Given the description of an element on the screen output the (x, y) to click on. 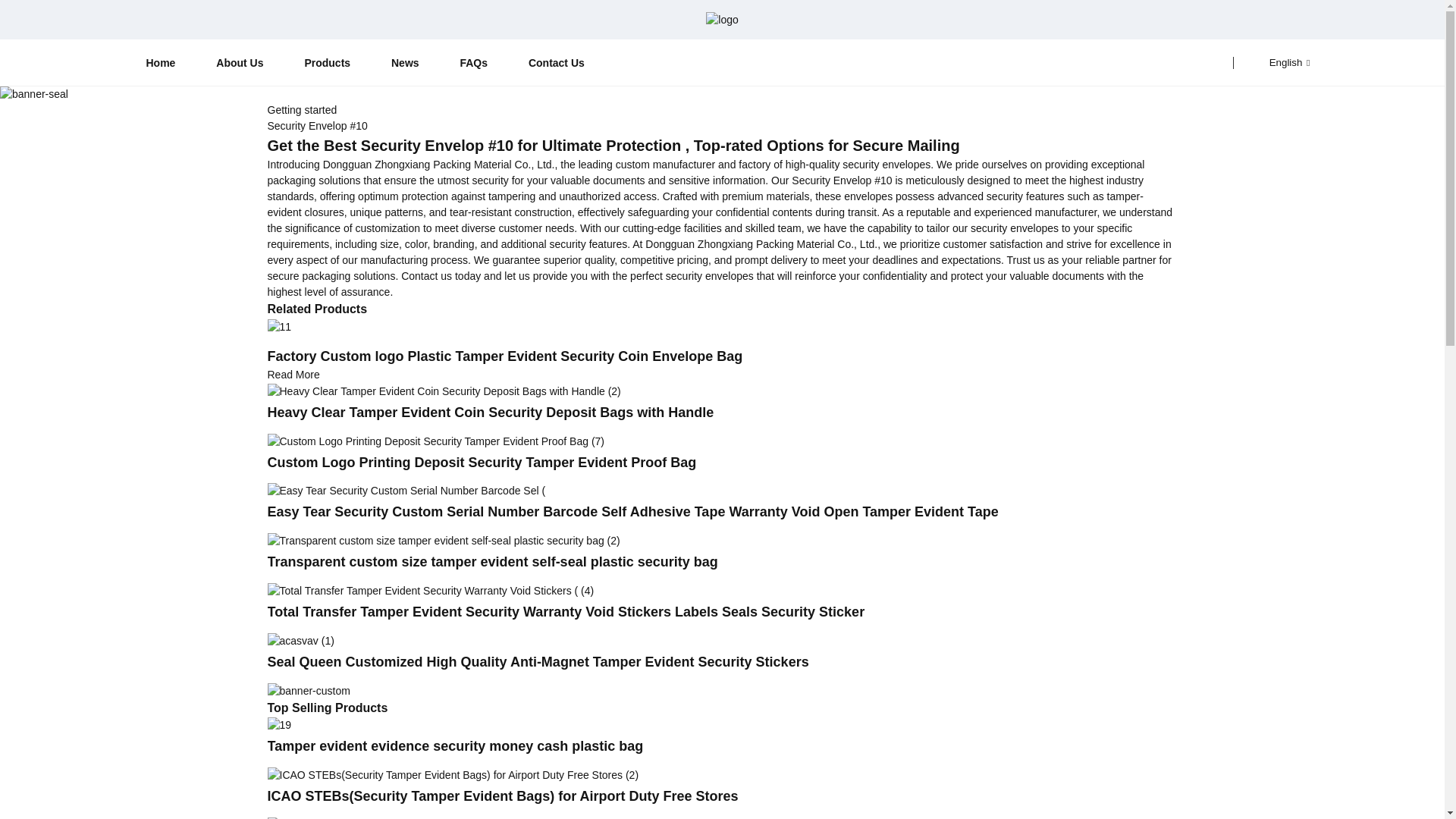
Read More (292, 374)
Contact Us (555, 62)
English (1277, 61)
About Us (240, 62)
News (405, 62)
Home (161, 62)
Products (326, 62)
